Given the description of an element on the screen output the (x, y) to click on. 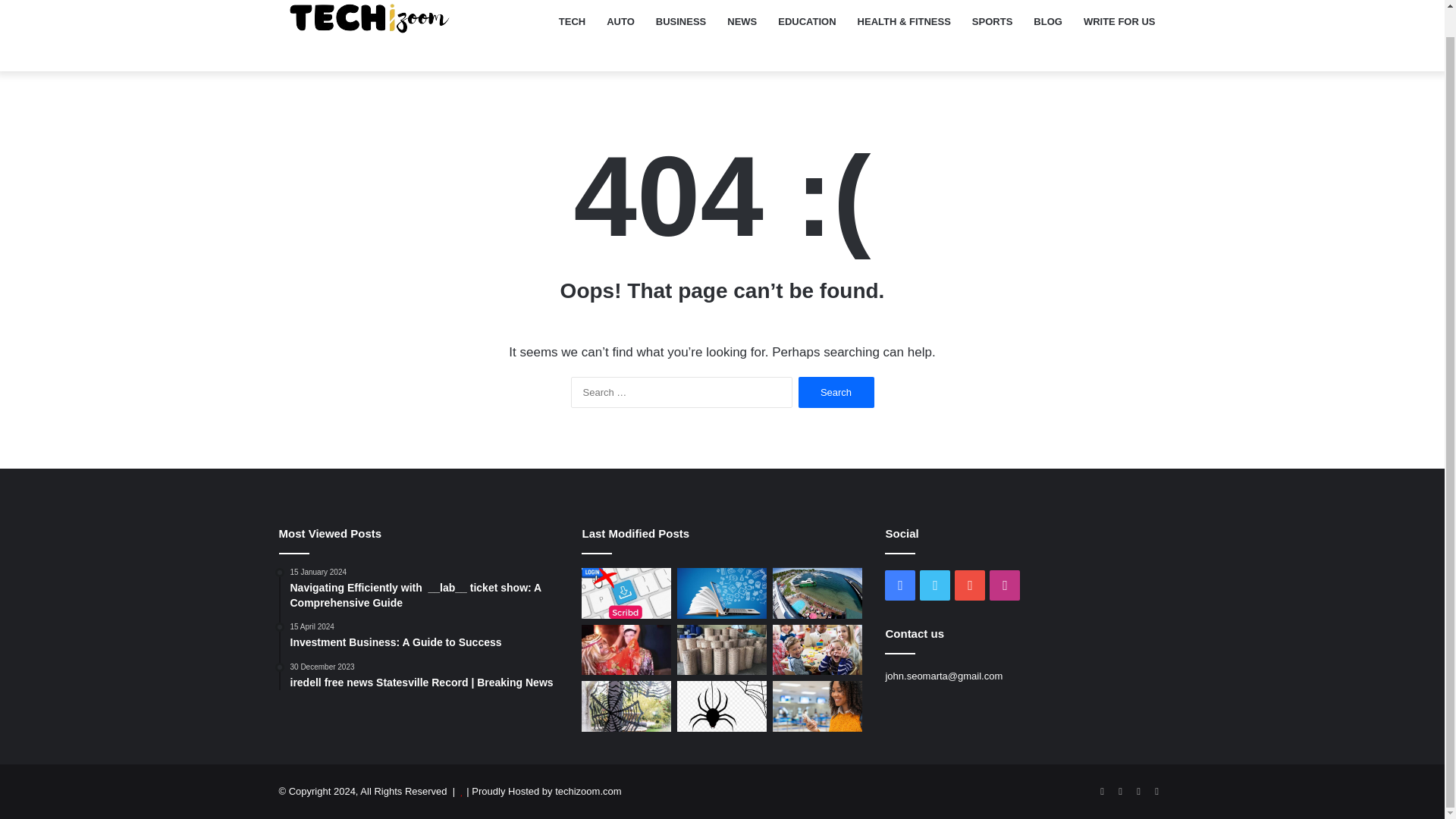
techizoom.com (424, 636)
Search (392, 28)
Facebook (835, 391)
EDUCATION (1102, 791)
Twitter (806, 35)
techizoom.com (935, 585)
Instagram (587, 790)
BLOG (1005, 585)
YouTube (1048, 35)
WRITE FOR US (970, 585)
YouTube (1119, 35)
Search (1138, 791)
Facebook (835, 391)
NEWS (900, 585)
